Given the description of an element on the screen output the (x, y) to click on. 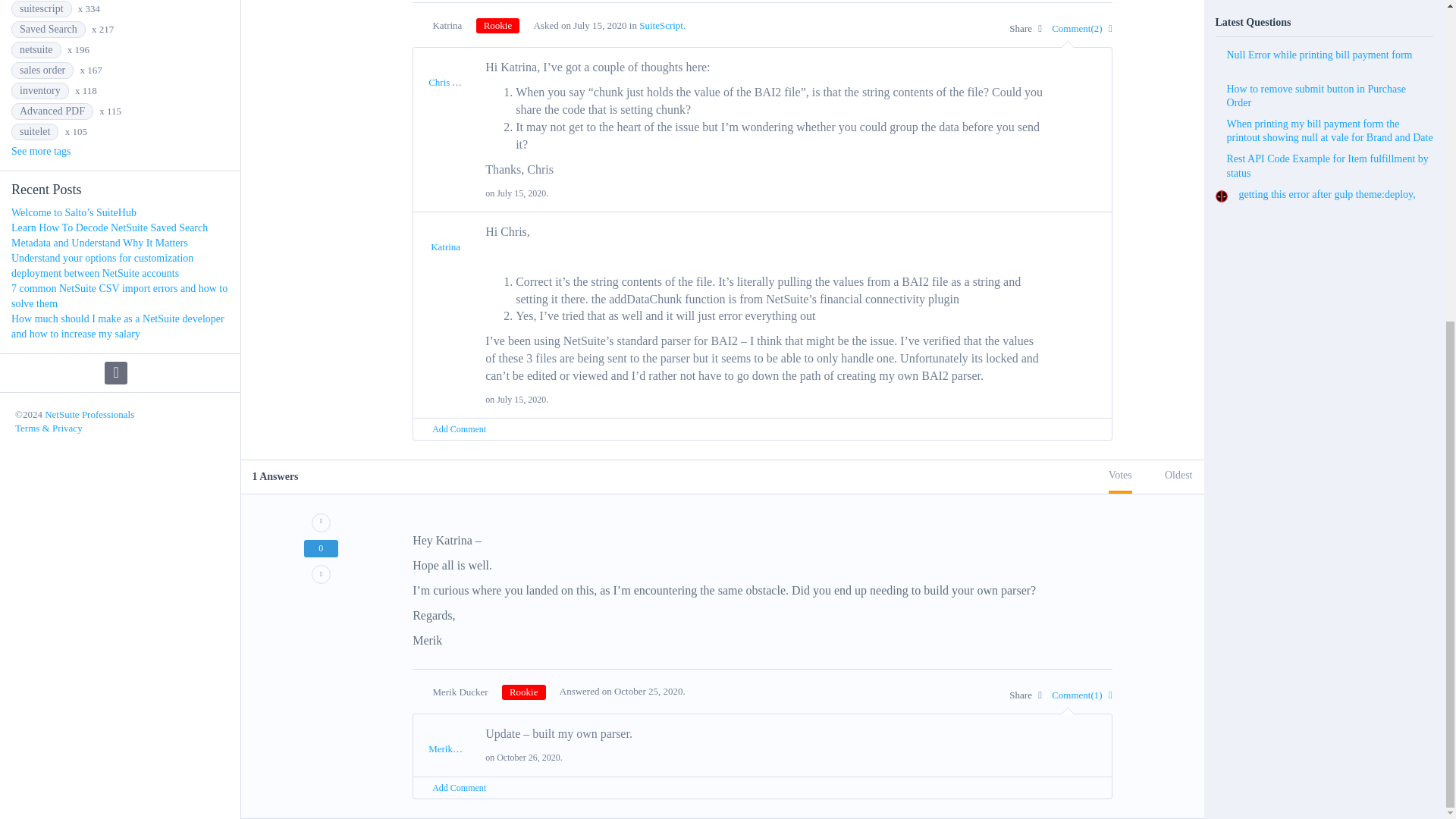
13 (497, 25)
This is not useful (320, 574)
Merik Ducker (455, 748)
This is useful. (320, 522)
Chris Abbott (453, 81)
Katrina (445, 246)
3 (524, 692)
